Given the description of an element on the screen output the (x, y) to click on. 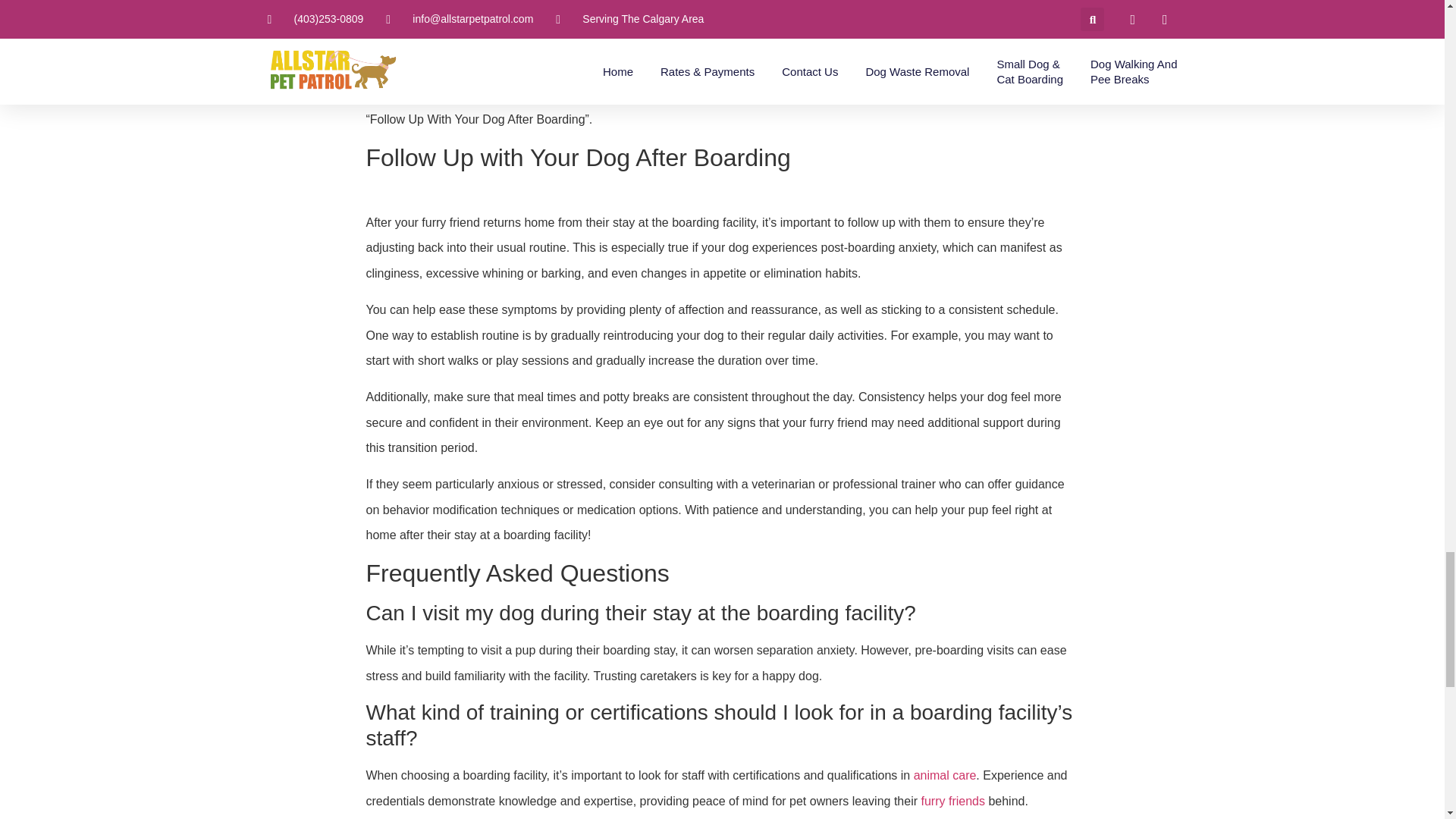
furry friends (952, 800)
animal care (945, 775)
animal care (945, 775)
furry friends (952, 800)
